Given the description of an element on the screen output the (x, y) to click on. 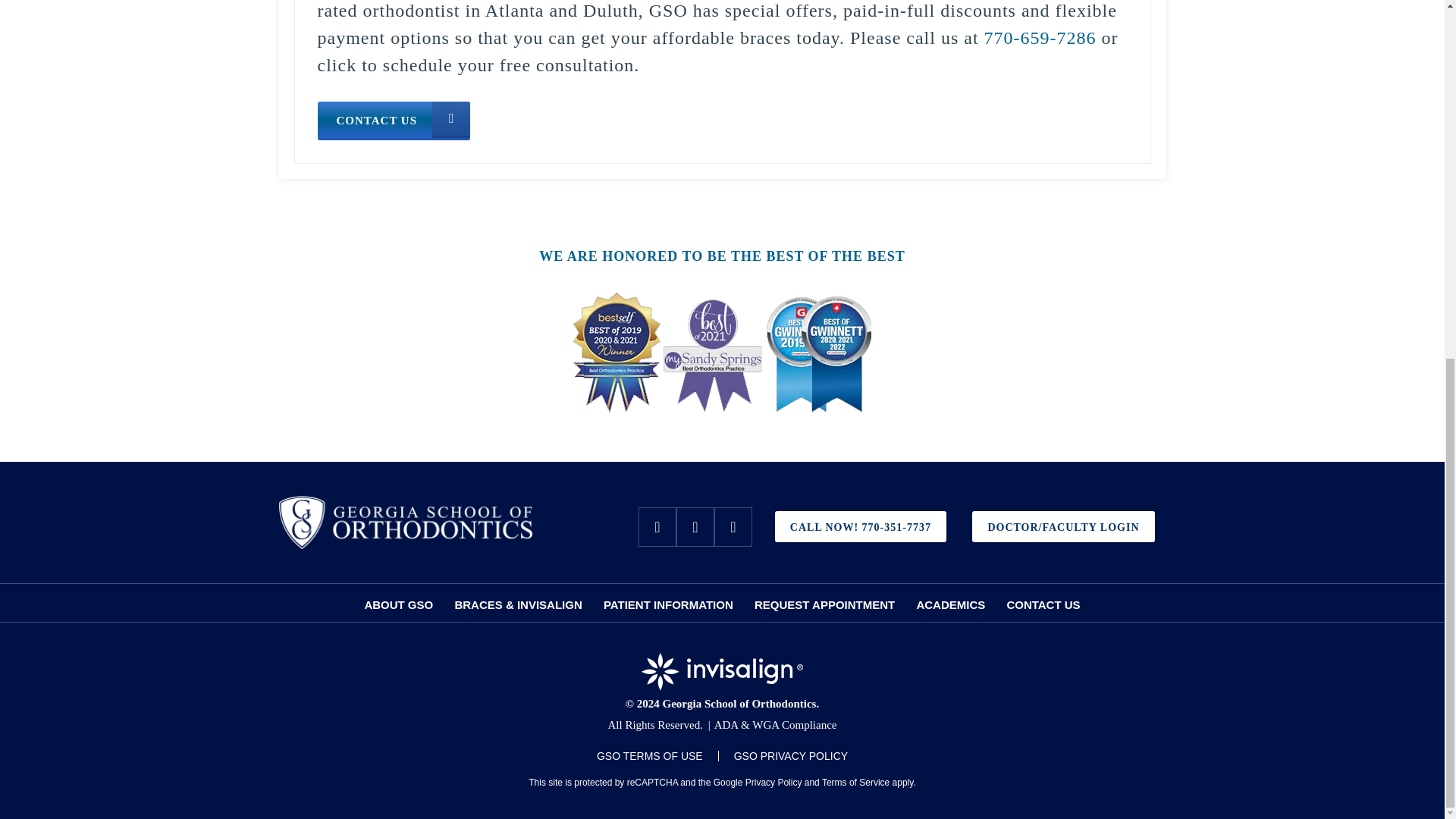
Privacy Policy for GSO (790, 756)
Best of Gwinnett (722, 352)
Georgia School of Orthodontics (405, 522)
Invisalign (722, 671)
